Given the description of an element on the screen output the (x, y) to click on. 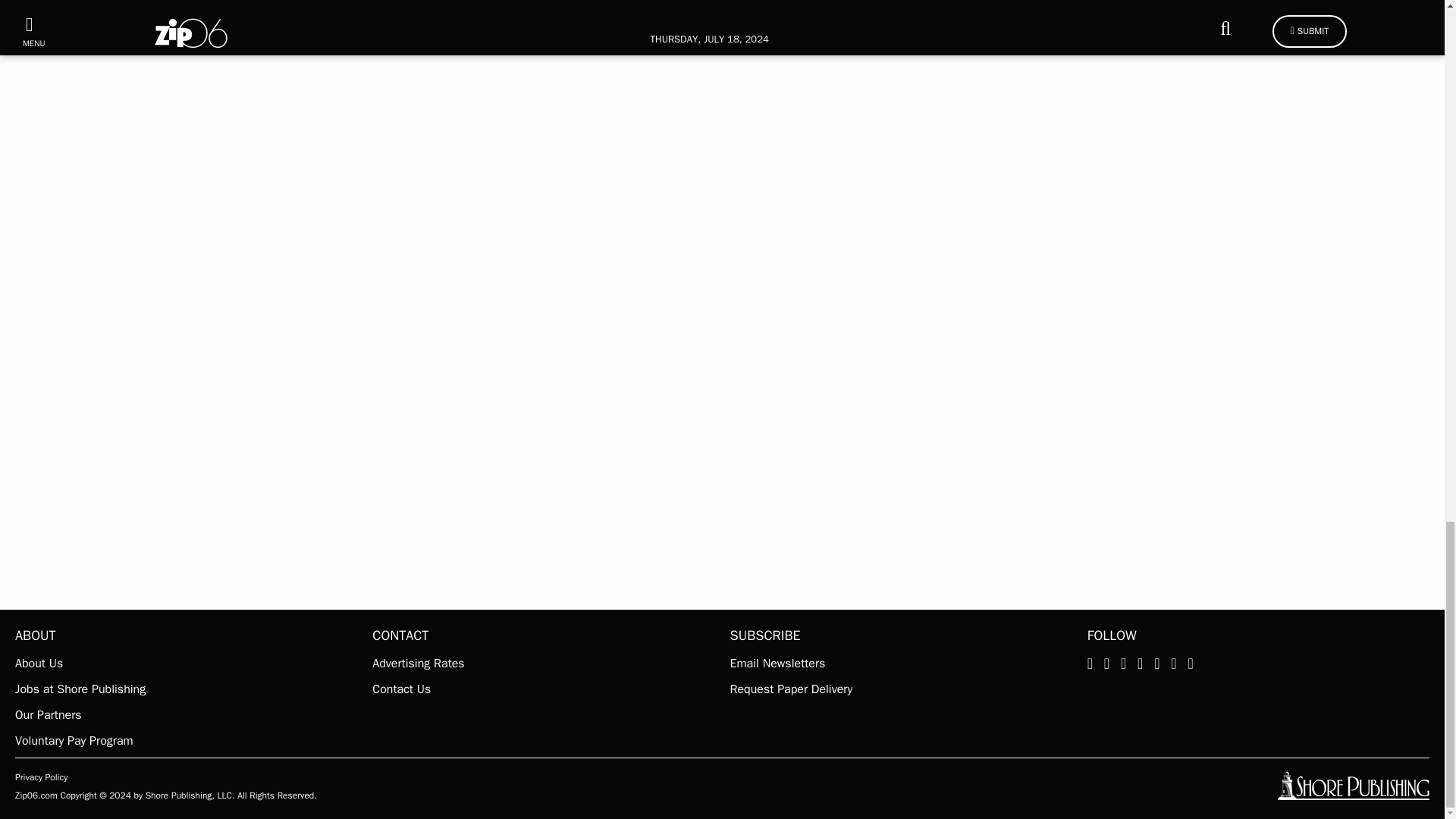
Jobs at Shore Publishing (185, 689)
Our Partners (185, 714)
About Us (185, 663)
Advertising Rates (543, 663)
Voluntary Pay Program (185, 741)
